Given the description of an element on the screen output the (x, y) to click on. 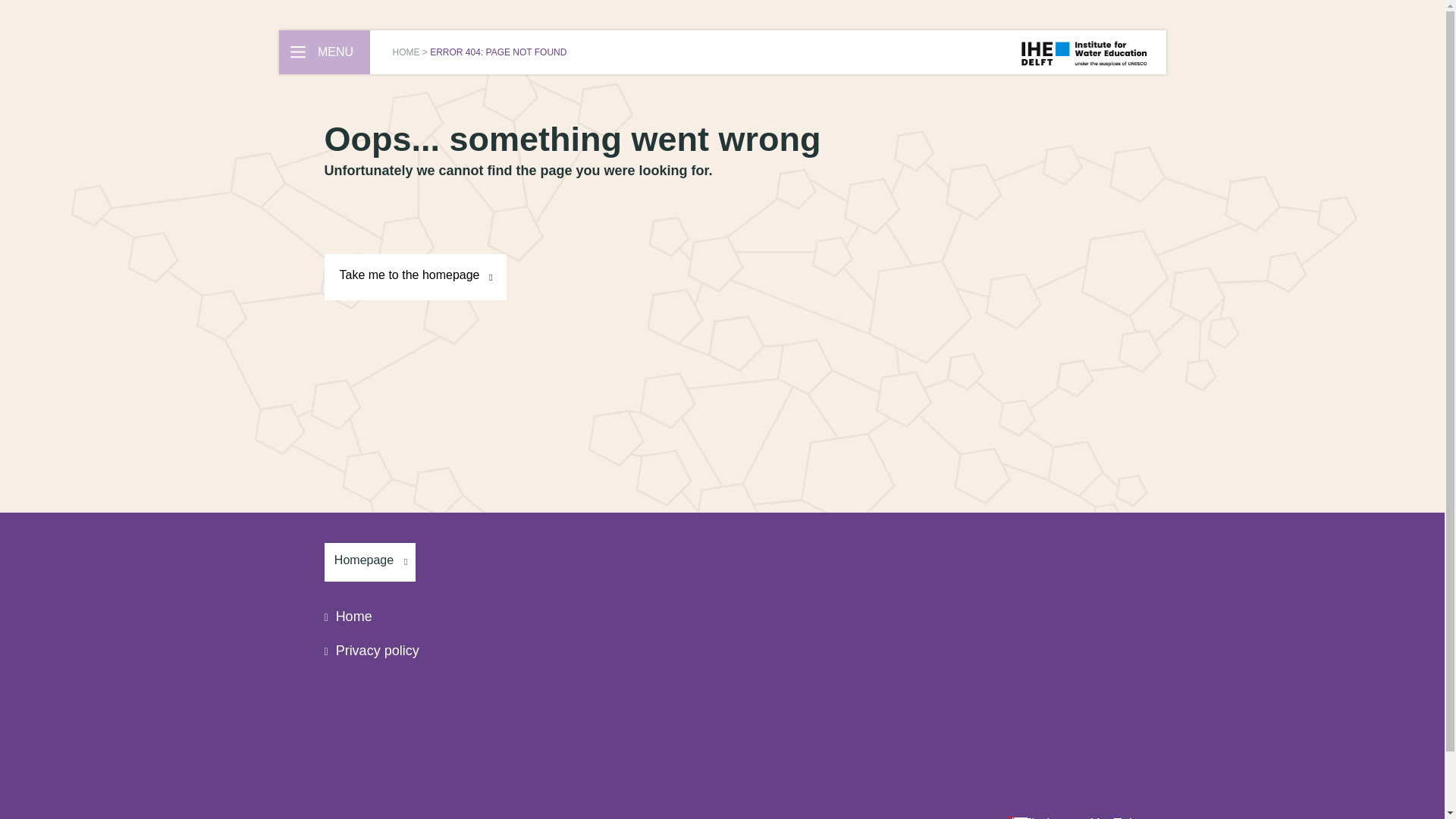
HOME (406, 51)
Homepage (369, 561)
Privacy policy (371, 650)
Find us on YouTube (1075, 817)
Home (348, 616)
MENU (324, 52)
Take me to the homepage (415, 276)
